Given the description of an element on the screen output the (x, y) to click on. 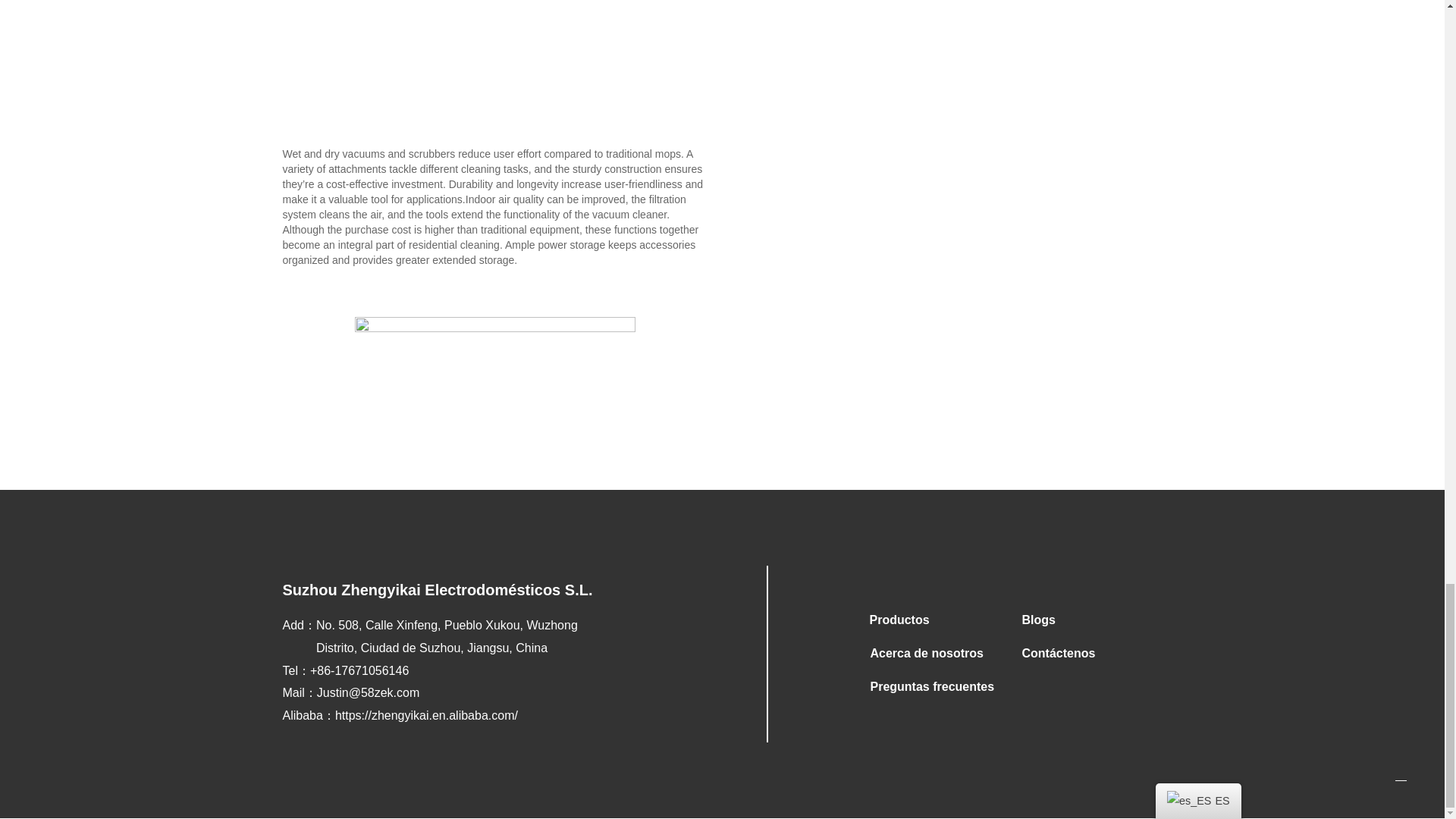
Blogs (1086, 620)
Acerca de nosotros (935, 653)
Productos (934, 620)
Preguntas frecuentes (935, 686)
